Given the description of an element on the screen output the (x, y) to click on. 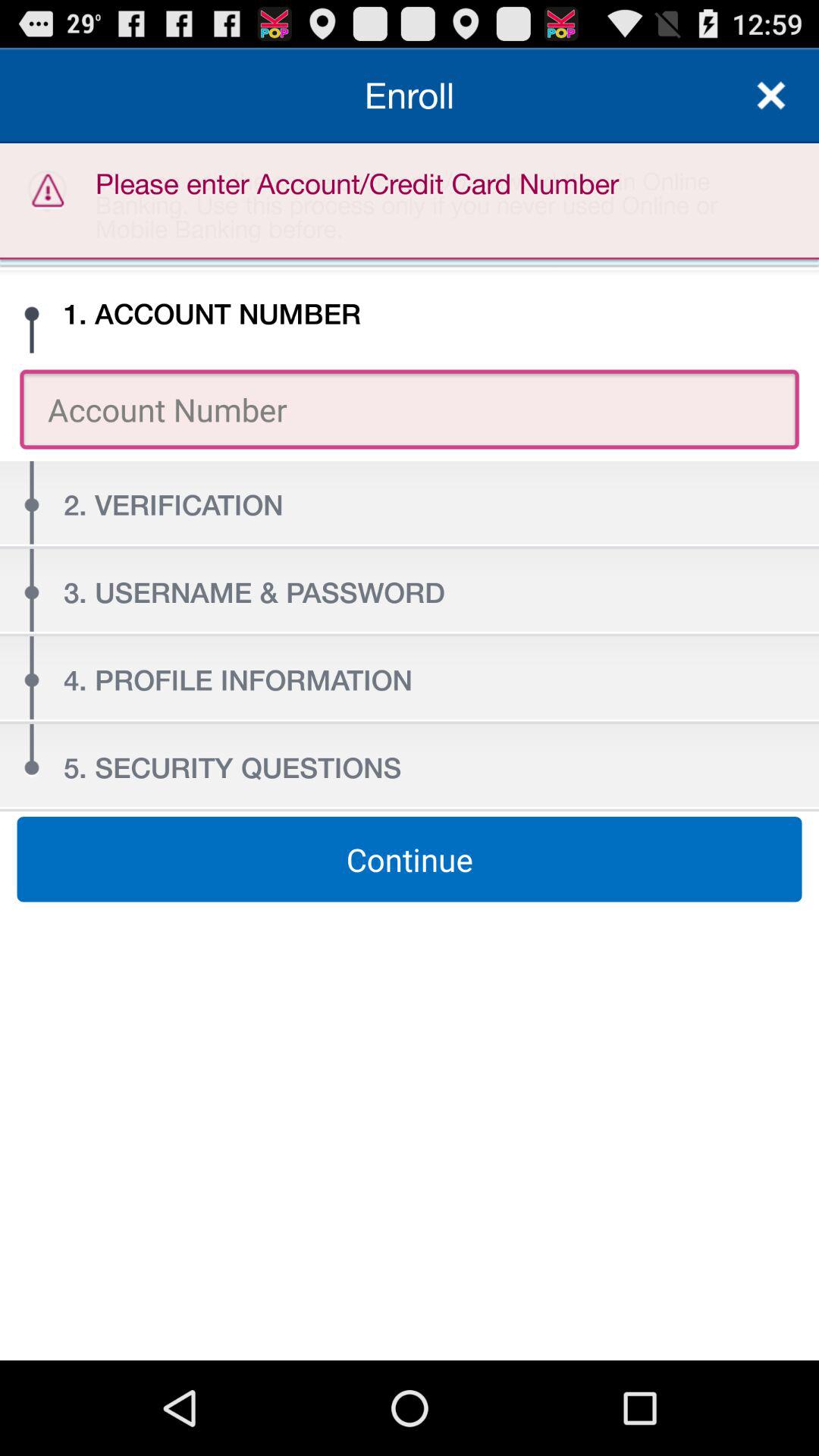
click item above the 2. verification icon (409, 409)
